Given the description of an element on the screen output the (x, y) to click on. 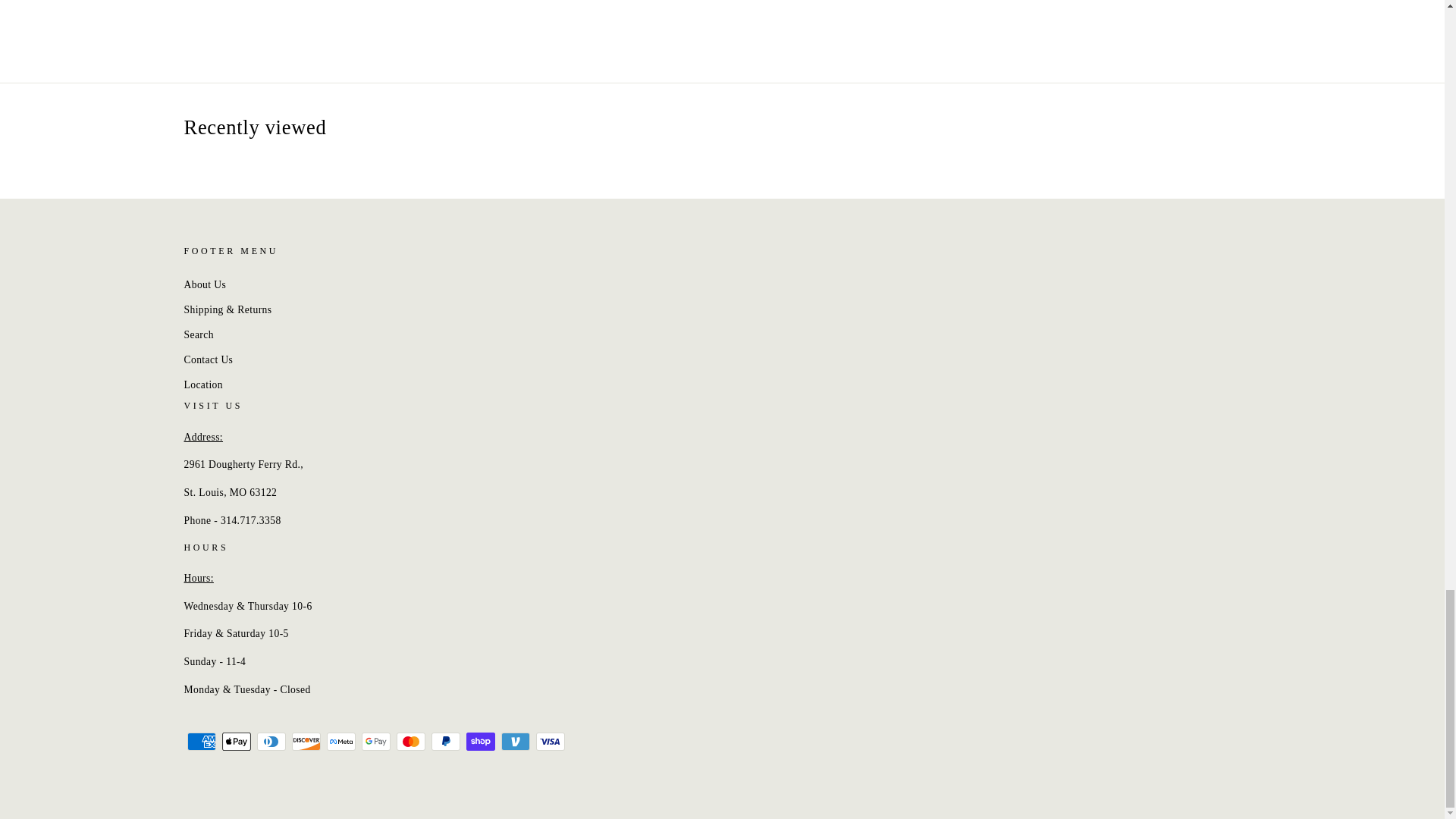
Google Pay (375, 741)
Apple Pay (235, 741)
PayPal (445, 741)
Discover (305, 741)
Venmo (514, 741)
Shop Pay (480, 741)
Meta Pay (340, 741)
Diners Club (270, 741)
Mastercard (410, 741)
American Express (200, 741)
Visa (549, 741)
